Given the description of an element on the screen output the (x, y) to click on. 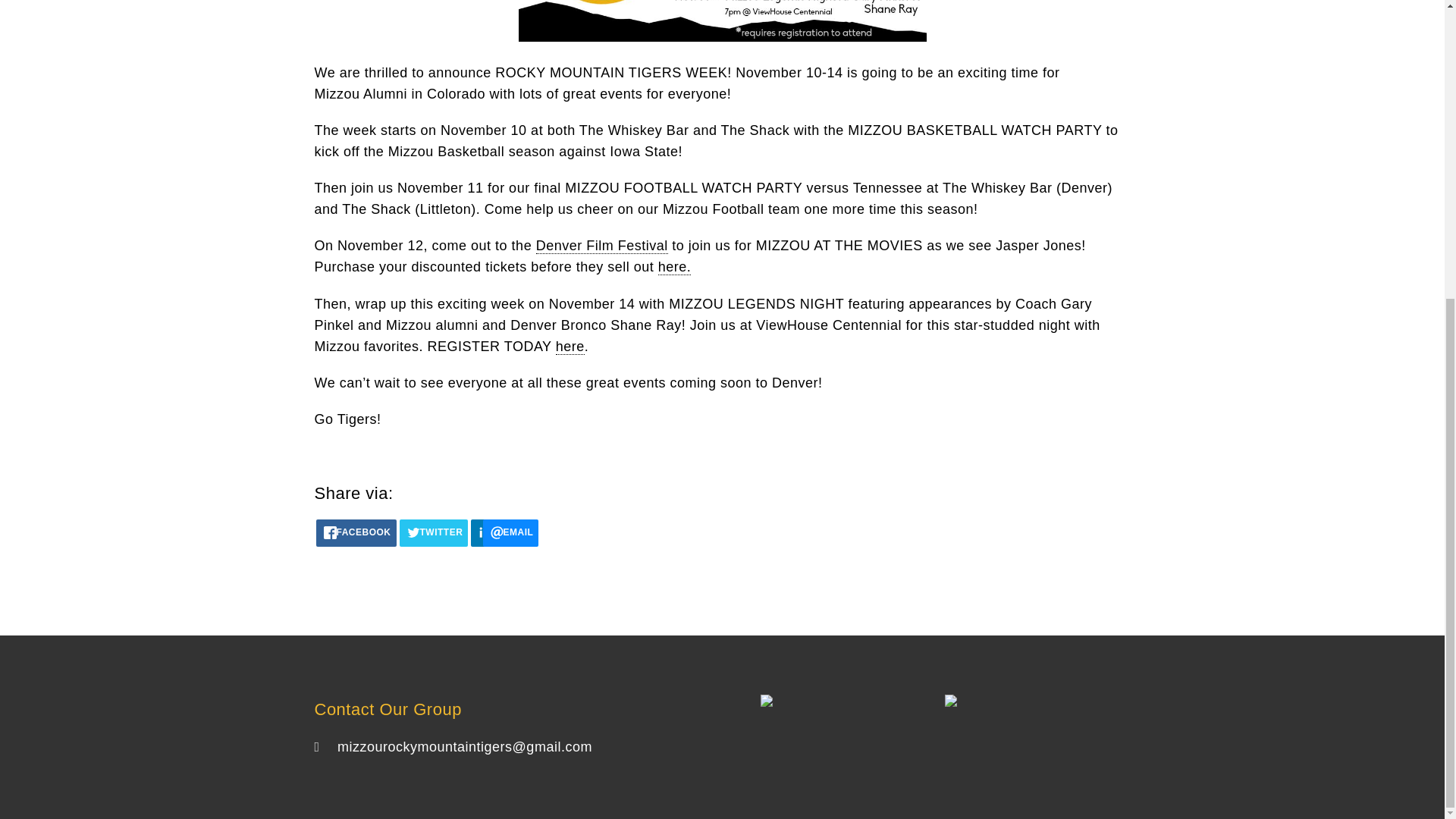
here. (674, 267)
EMAIL (510, 533)
FACEBOOK (355, 533)
TWITTER (433, 533)
LINKEDIN (483, 533)
here (570, 346)
Denver Film Festival (601, 245)
